Given the description of an element on the screen output the (x, y) to click on. 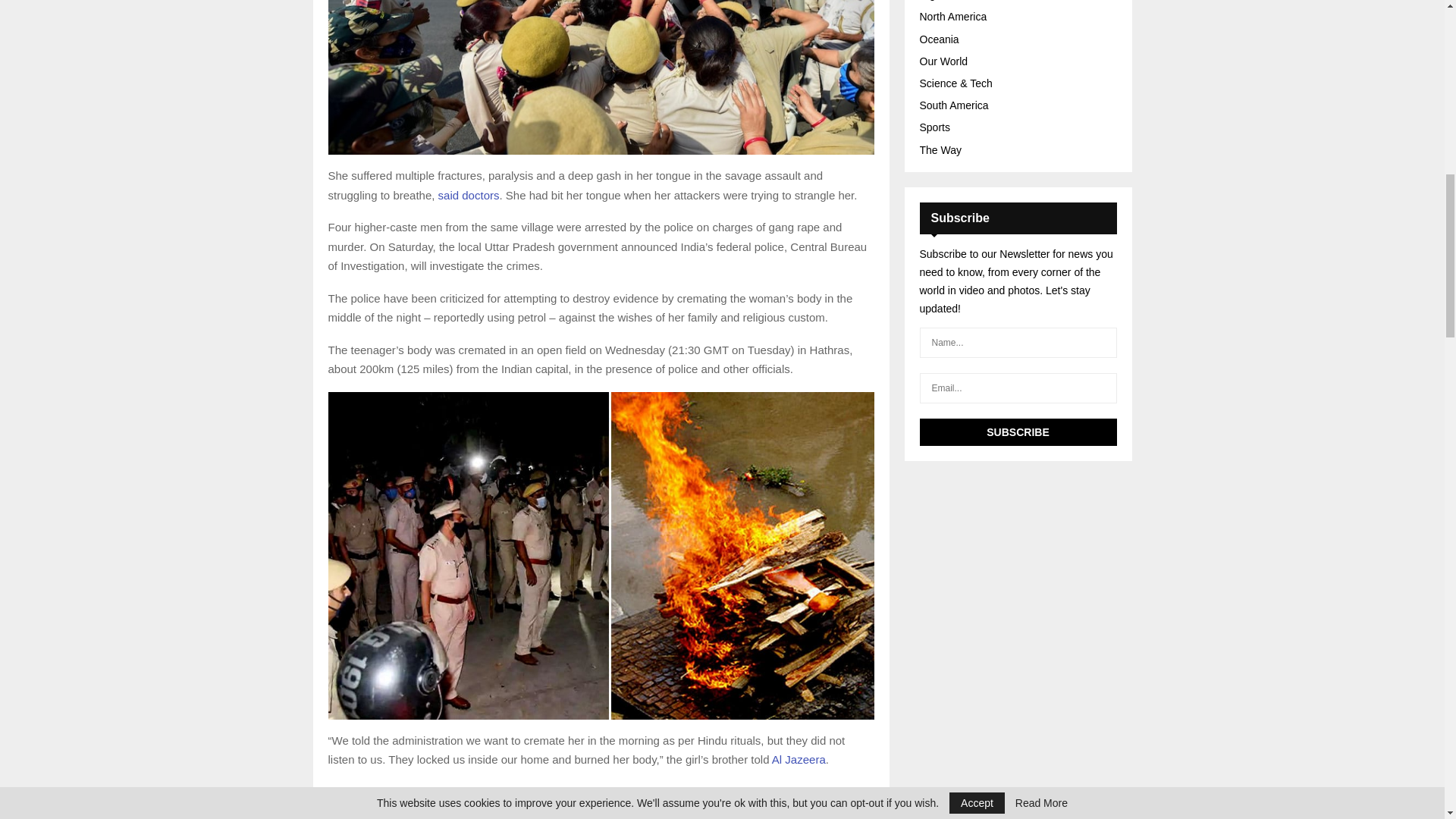
Subscribe (1017, 431)
